Given the description of an element on the screen output the (x, y) to click on. 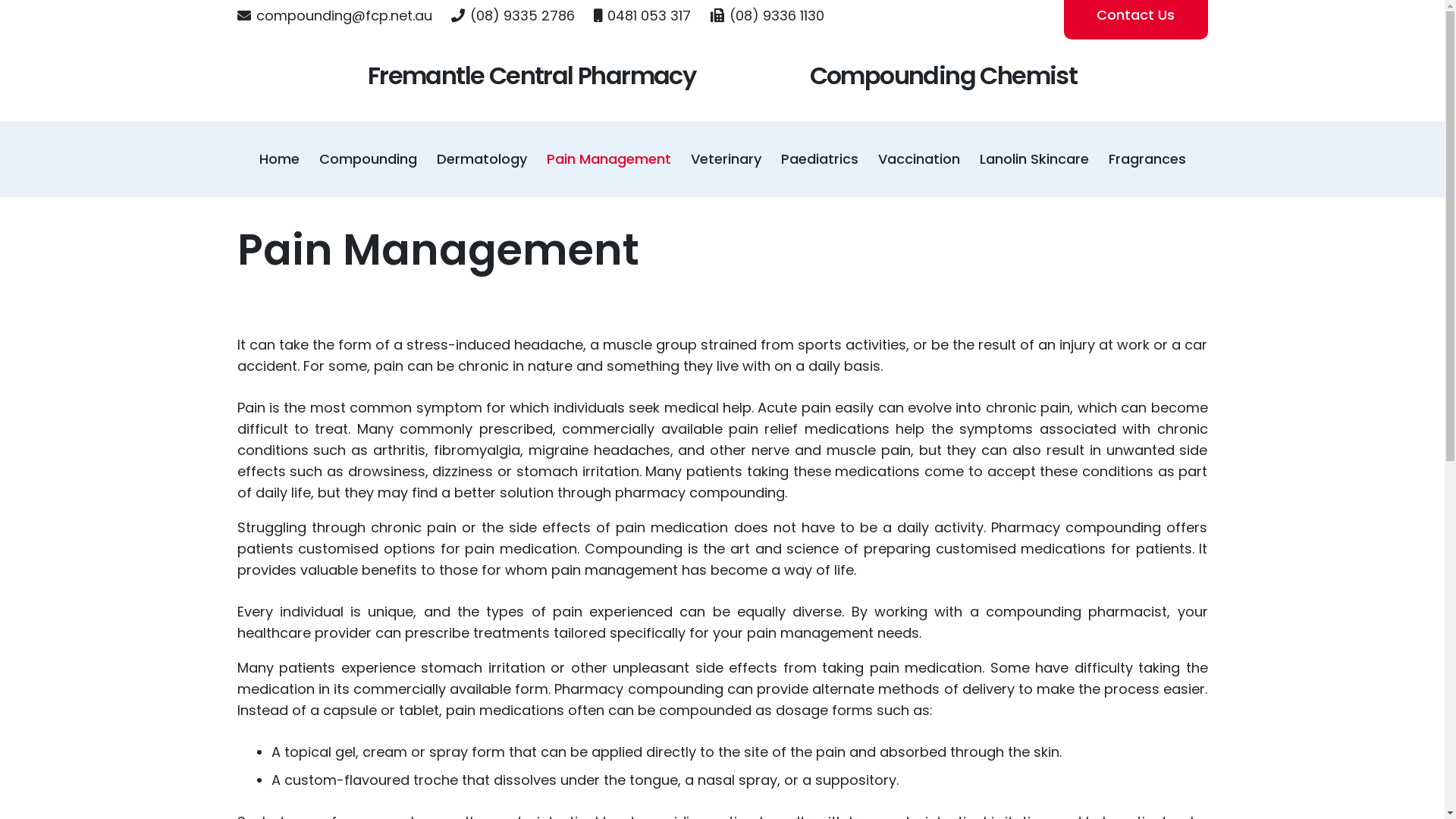
Vaccination Element type: text (918, 159)
Veterinary Element type: text (725, 159)
Fremantle Central Pharmacy Element type: text (531, 75)
Pain Management Element type: text (608, 159)
Paediatrics Element type: text (818, 159)
Home Element type: text (278, 159)
Lanolin Skincare Element type: text (1033, 159)
Dermatology Element type: text (481, 159)
Fragrances Element type: text (1146, 159)
Compounding Chemist Element type: text (943, 75)
Compounding Element type: text (367, 159)
